Given the description of an element on the screen output the (x, y) to click on. 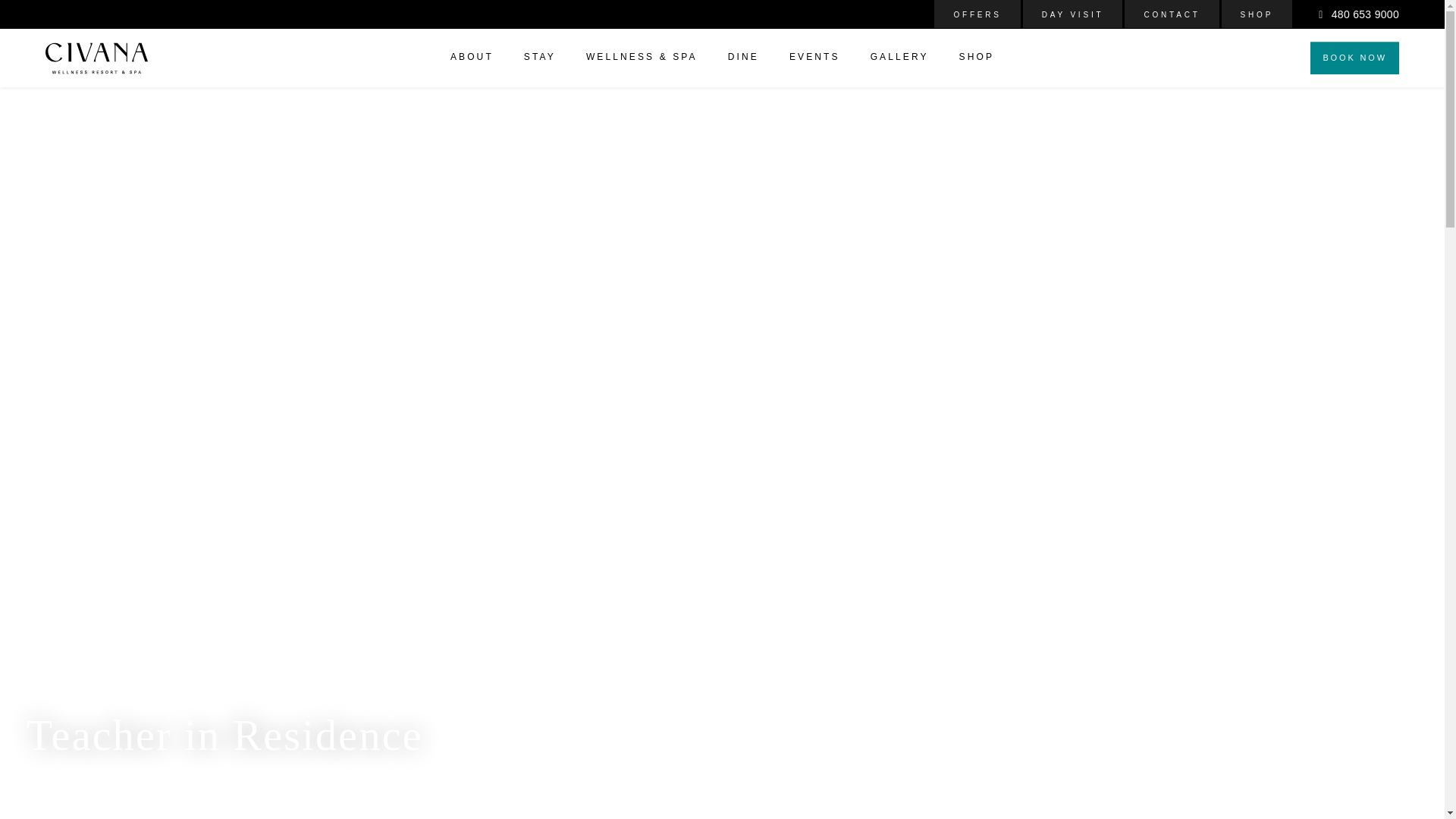
ABOUT (471, 58)
480 653 9000 (1359, 14)
CONTACT (1171, 20)
BOOK NOW (1354, 58)
DAY VISIT (1072, 20)
OFFERS (977, 20)
SHOP (1256, 20)
